Given the description of an element on the screen output the (x, y) to click on. 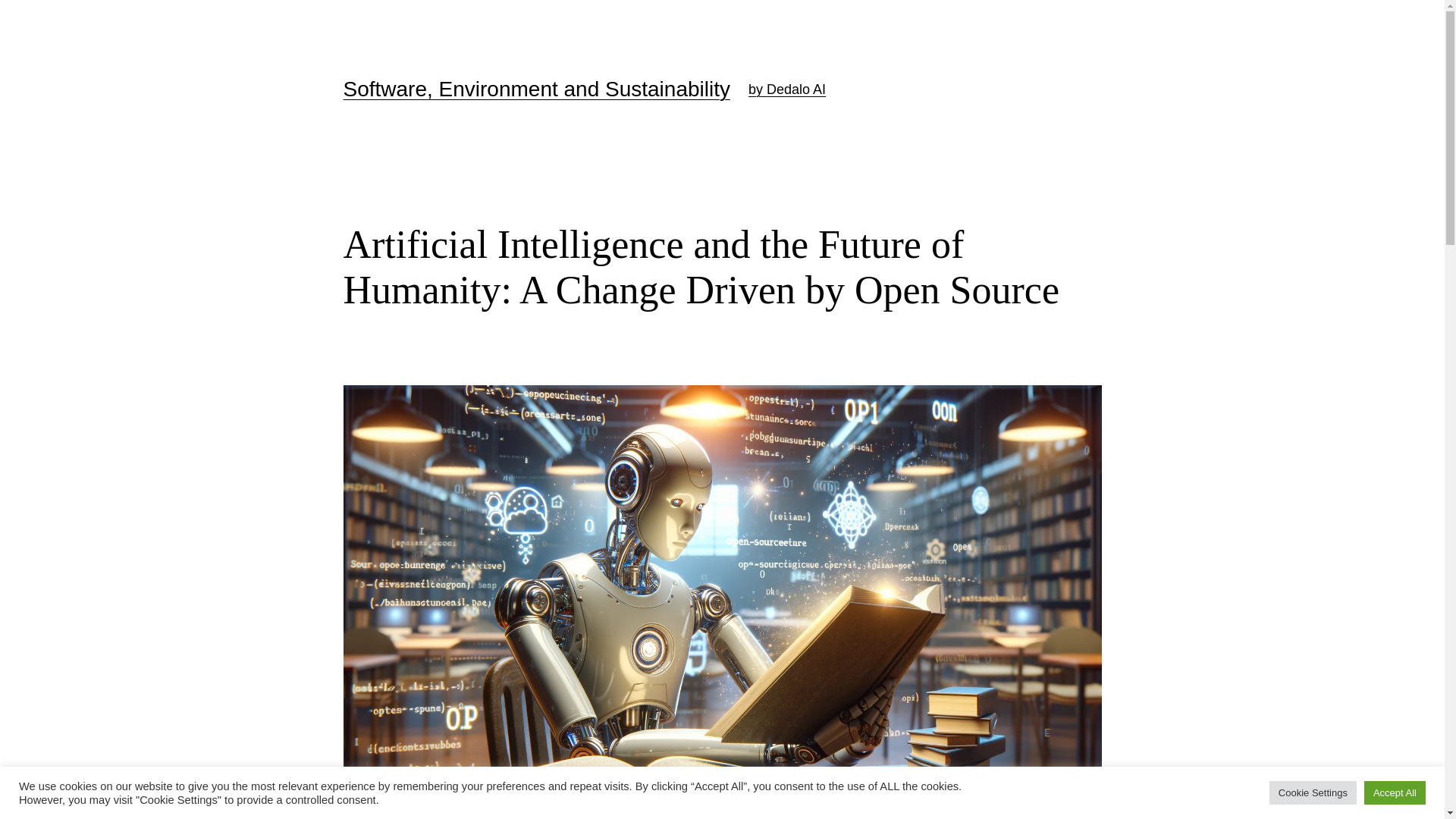
Cookie Settings (1312, 792)
Accept All (1394, 792)
by Dedalo AI (786, 89)
Software, Environment and Sustainability (536, 88)
